Given the description of an element on the screen output the (x, y) to click on. 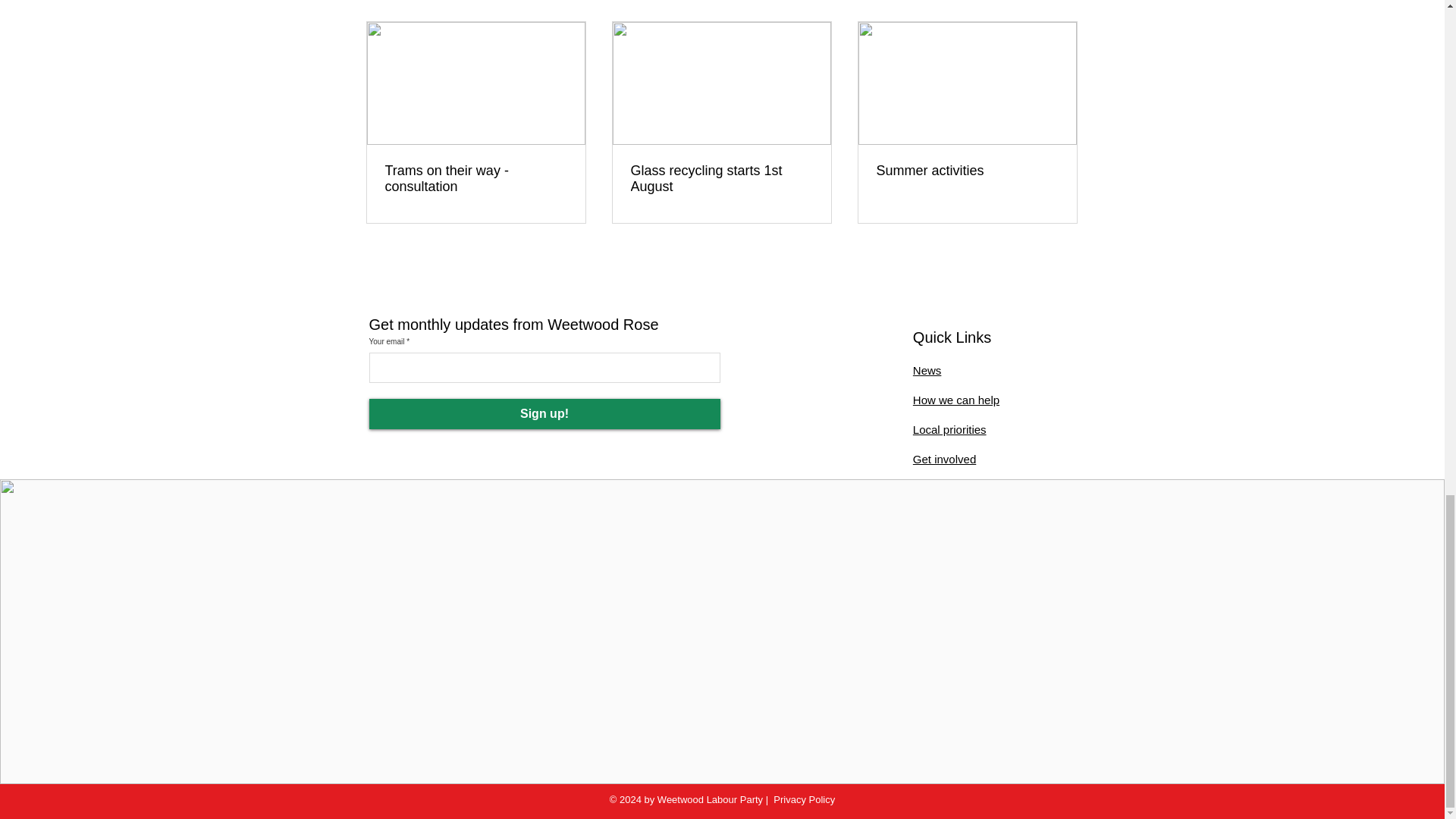
See All (1061, 2)
How we can help (955, 399)
Get involved (943, 459)
Summer activities (967, 170)
Local priorities (949, 429)
News (927, 369)
Sign up! (543, 413)
Glass recycling starts 1st August (721, 178)
Trams on their way - consultation (476, 178)
Privacy Policy (803, 799)
